Given the description of an element on the screen output the (x, y) to click on. 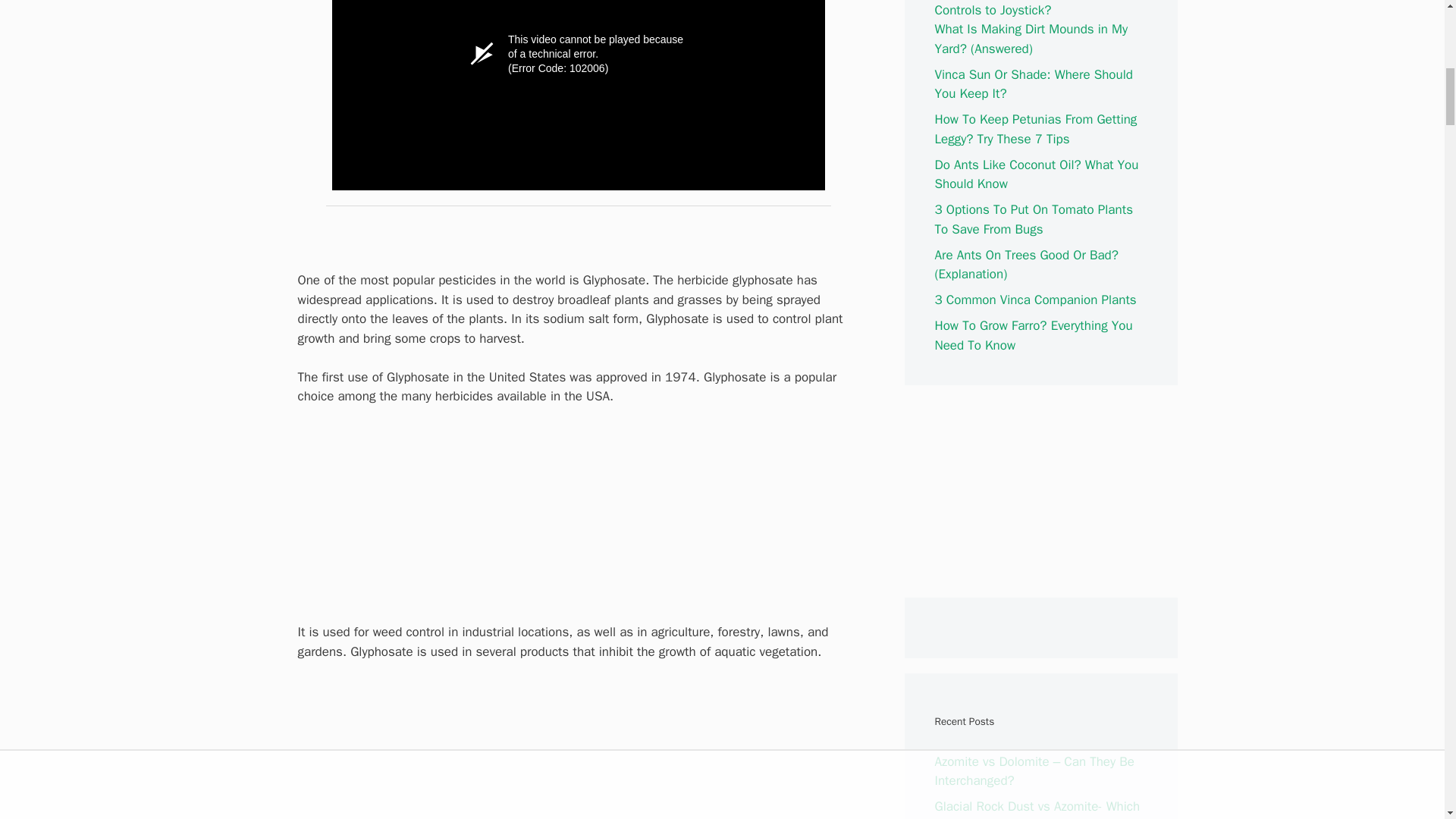
Do Ants Like Coconut Oil? What You Should Know (1036, 173)
Vinca Sun Or Shade: Where Should You Keep It? (1033, 84)
3 Options To Put On Tomato Plants To Save From Bugs (1033, 219)
Glacial Rock Dust vs Azomite- Which One Should You Use? (1037, 808)
Can You Convert Bobcat Standard Controls to Joystick? (1029, 9)
3 Common Vinca Companion Plants (1034, 299)
How To Keep Petunias From Getting Leggy? Try These 7 Tips (1035, 129)
How To Grow Farro? Everything You Need To Know (1033, 334)
